Given the description of an element on the screen output the (x, y) to click on. 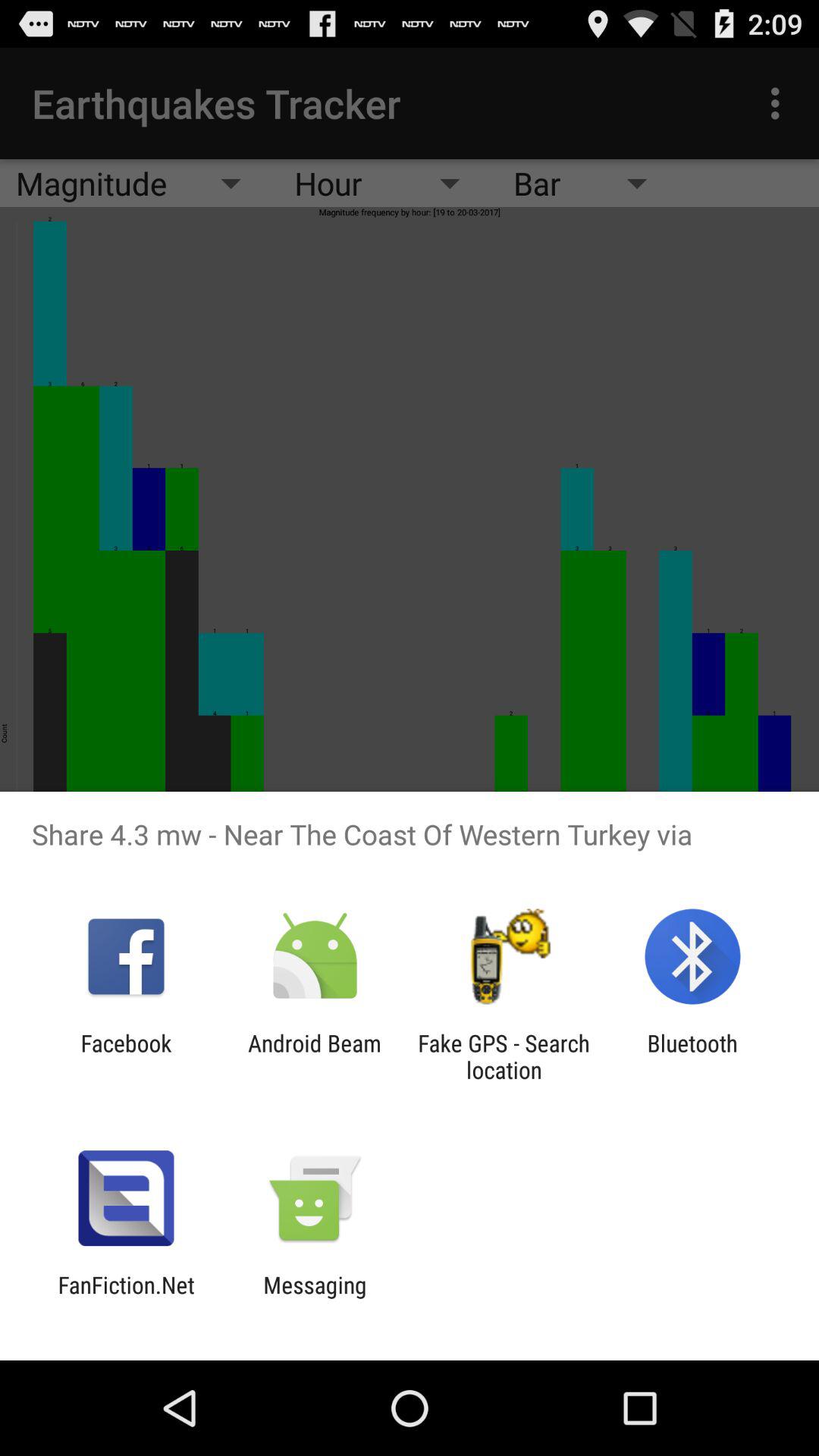
turn on item next to fake gps search item (692, 1056)
